Given the description of an element on the screen output the (x, y) to click on. 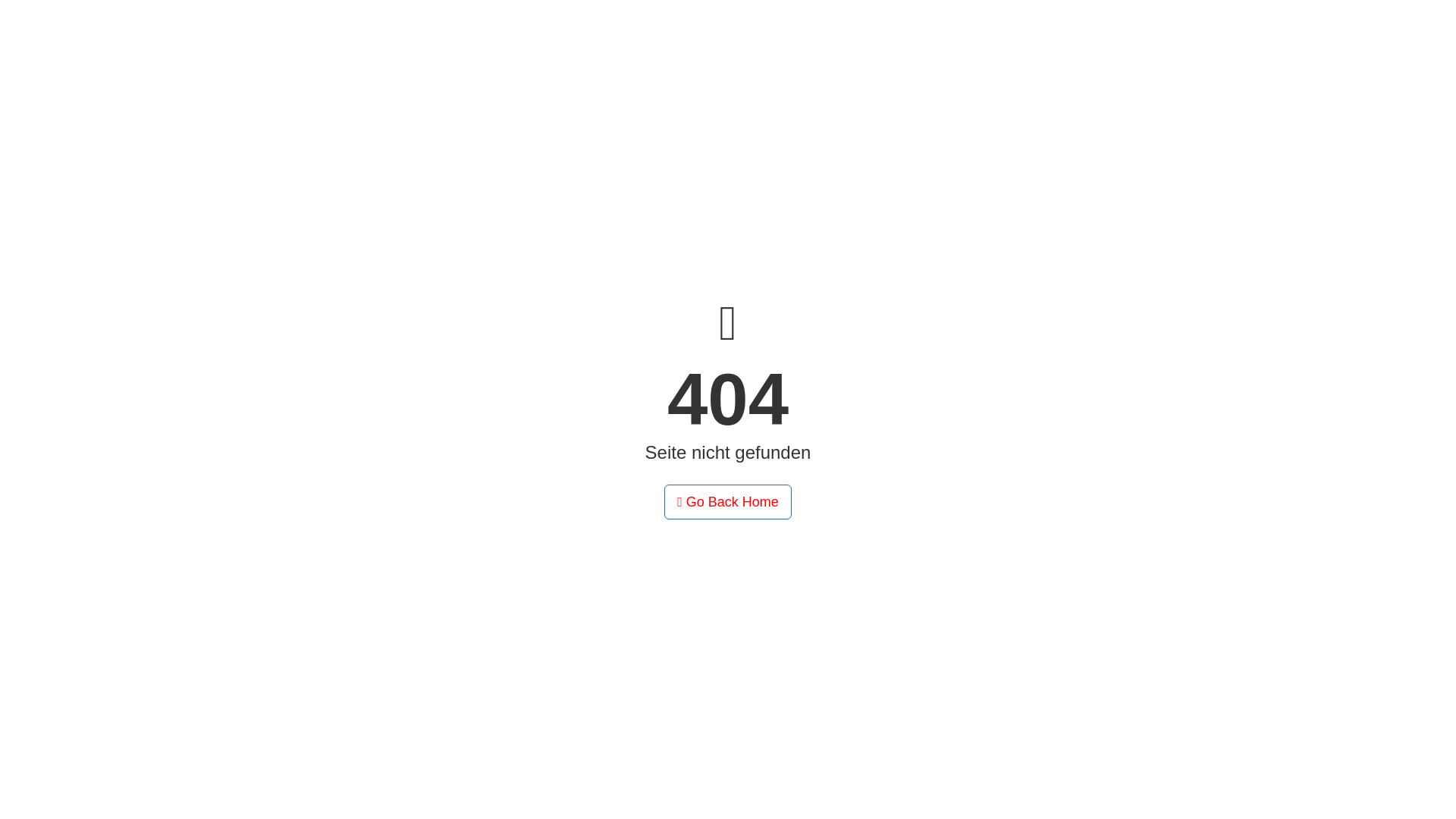
Go Back Home Element type: text (727, 501)
